Given the description of an element on the screen output the (x, y) to click on. 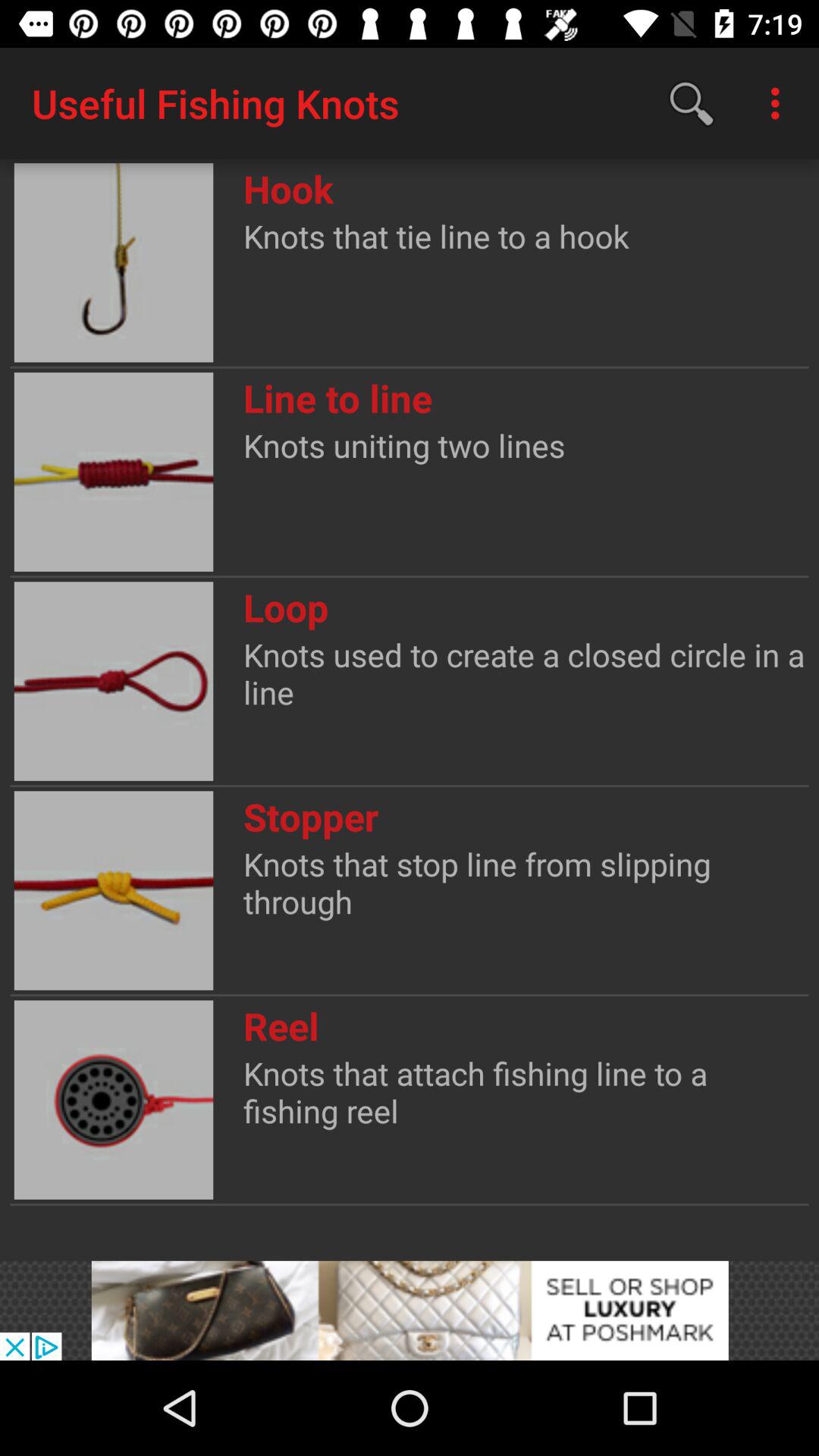
sell or shop luxury at poshmark (409, 1310)
